Given the description of an element on the screen output the (x, y) to click on. 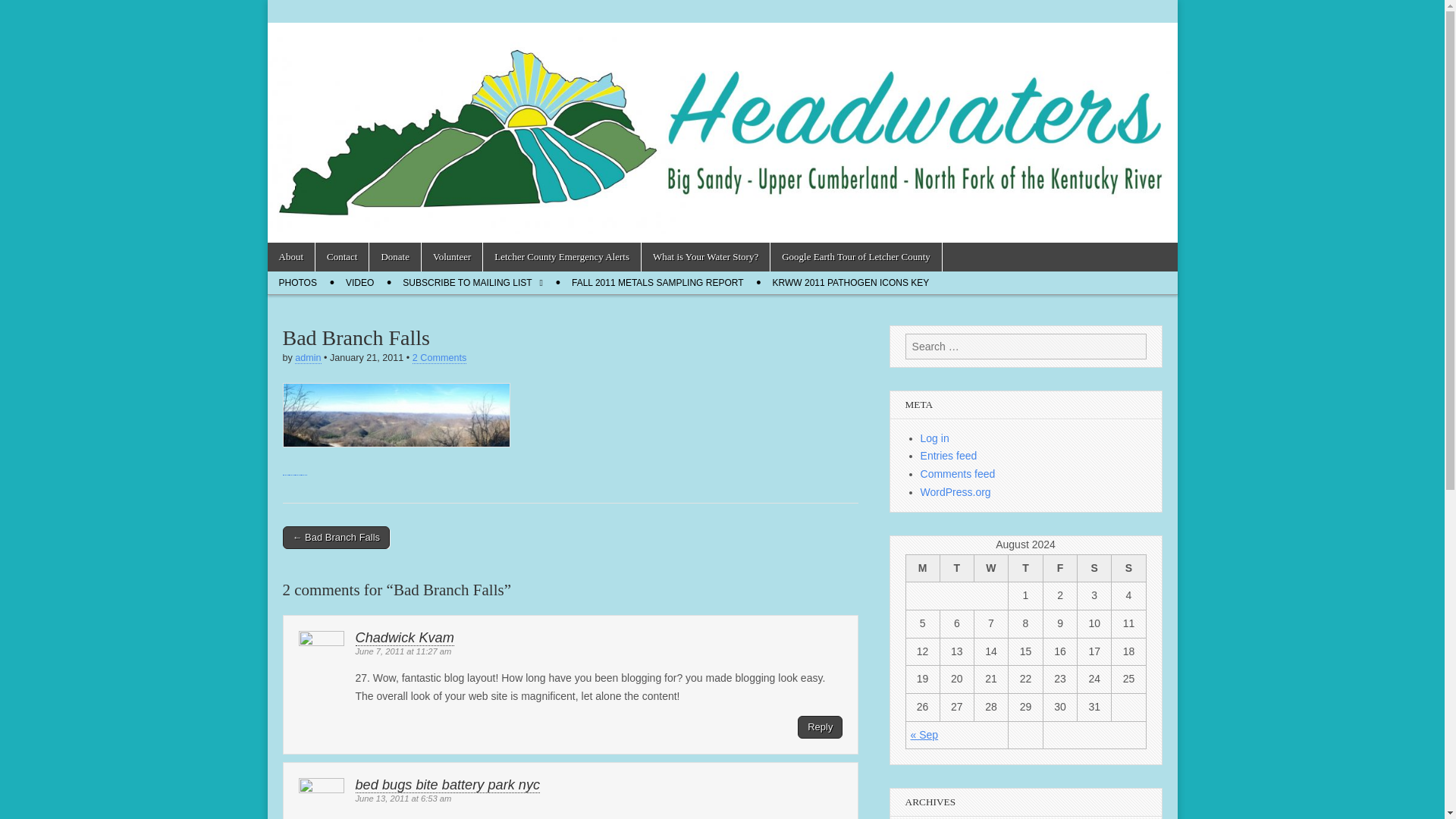
Search (23, 12)
WordPress.org (955, 491)
bed bugs bite battery park nyc (447, 785)
Monday (922, 568)
About (290, 256)
PHOTOS (296, 282)
Donate (394, 256)
Wednesday (990, 568)
Entries feed (948, 455)
Chadwick Kvam (403, 637)
Log in (934, 438)
Contact (341, 256)
VIDEO (359, 282)
Google Earth Tour of Letcher County (856, 256)
